Given the description of an element on the screen output the (x, y) to click on. 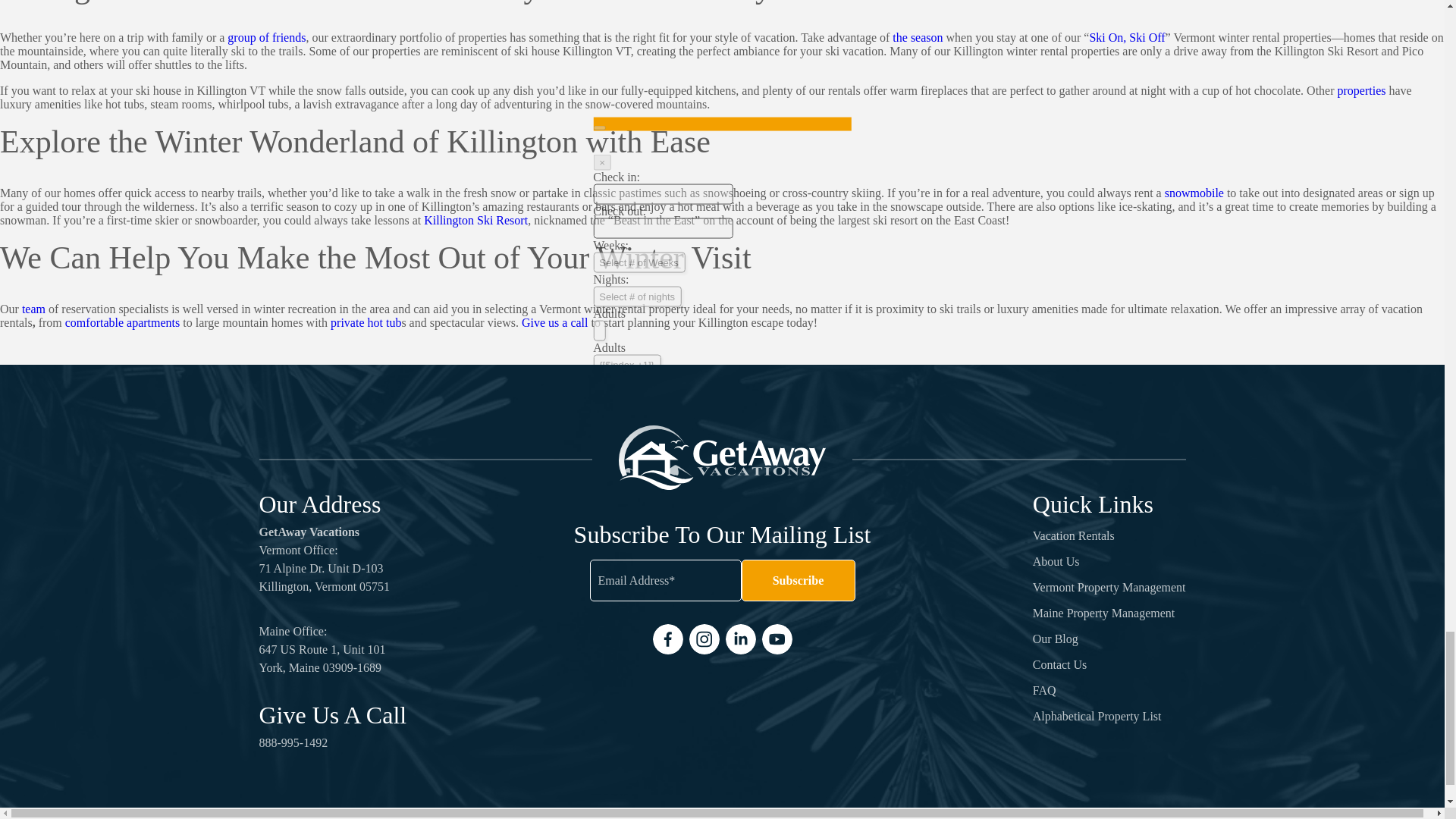
Killington, VT Vacation Rentals by GetAway Vacations Logo (721, 457)
